Given the description of an element on the screen output the (x, y) to click on. 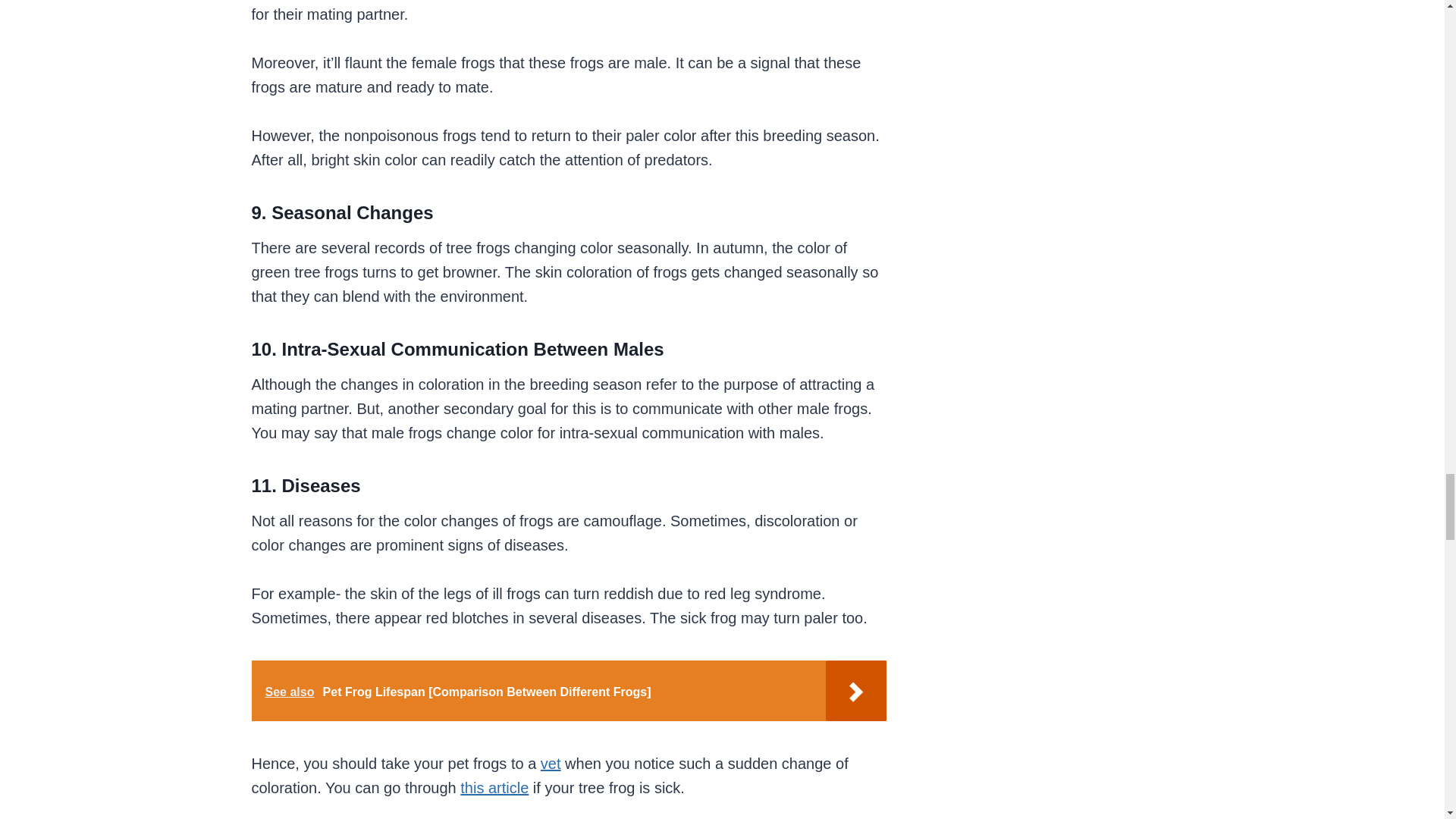
vet (550, 763)
